Given the description of an element on the screen output the (x, y) to click on. 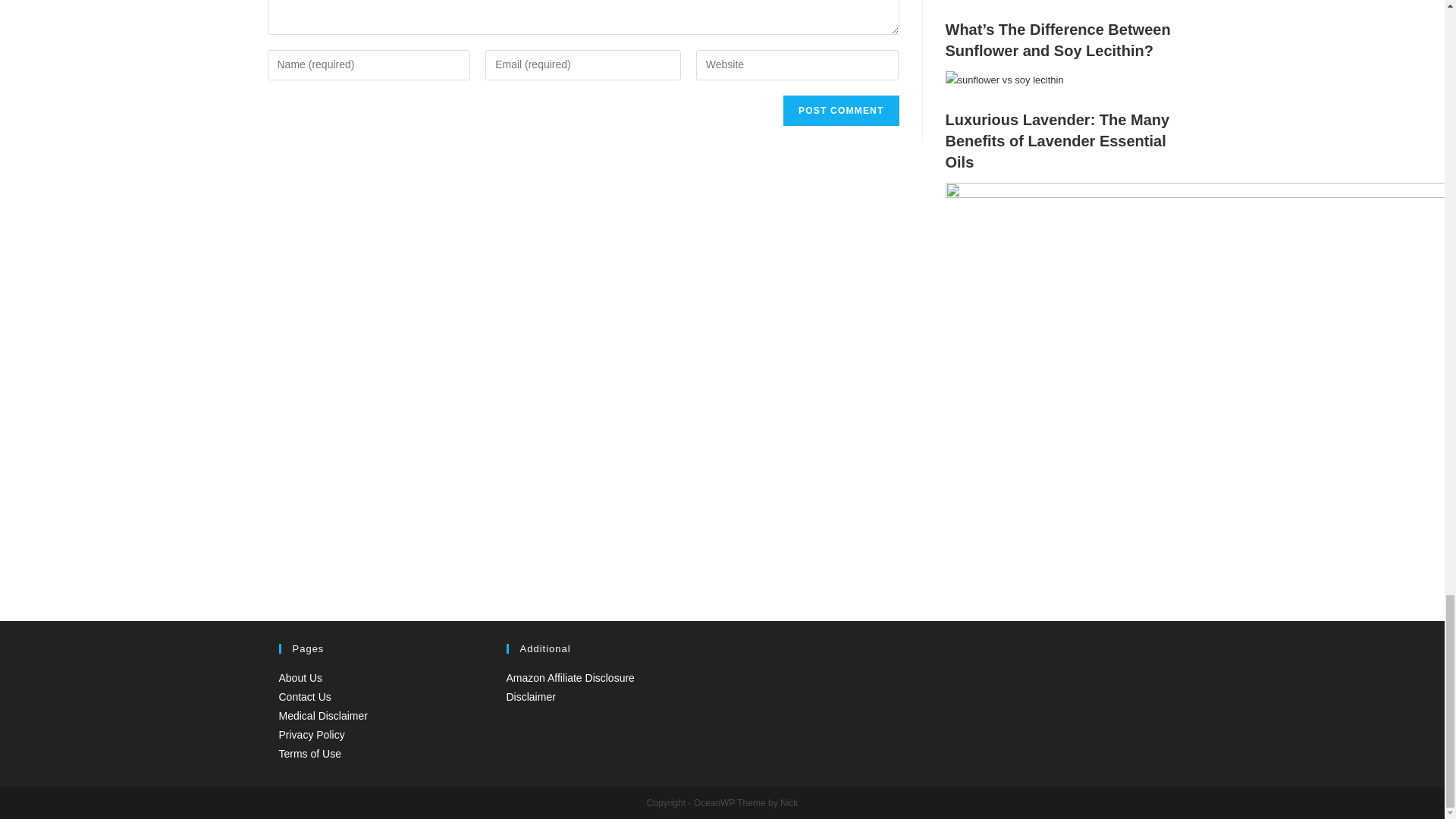
Post Comment (840, 110)
